Given the description of an element on the screen output the (x, y) to click on. 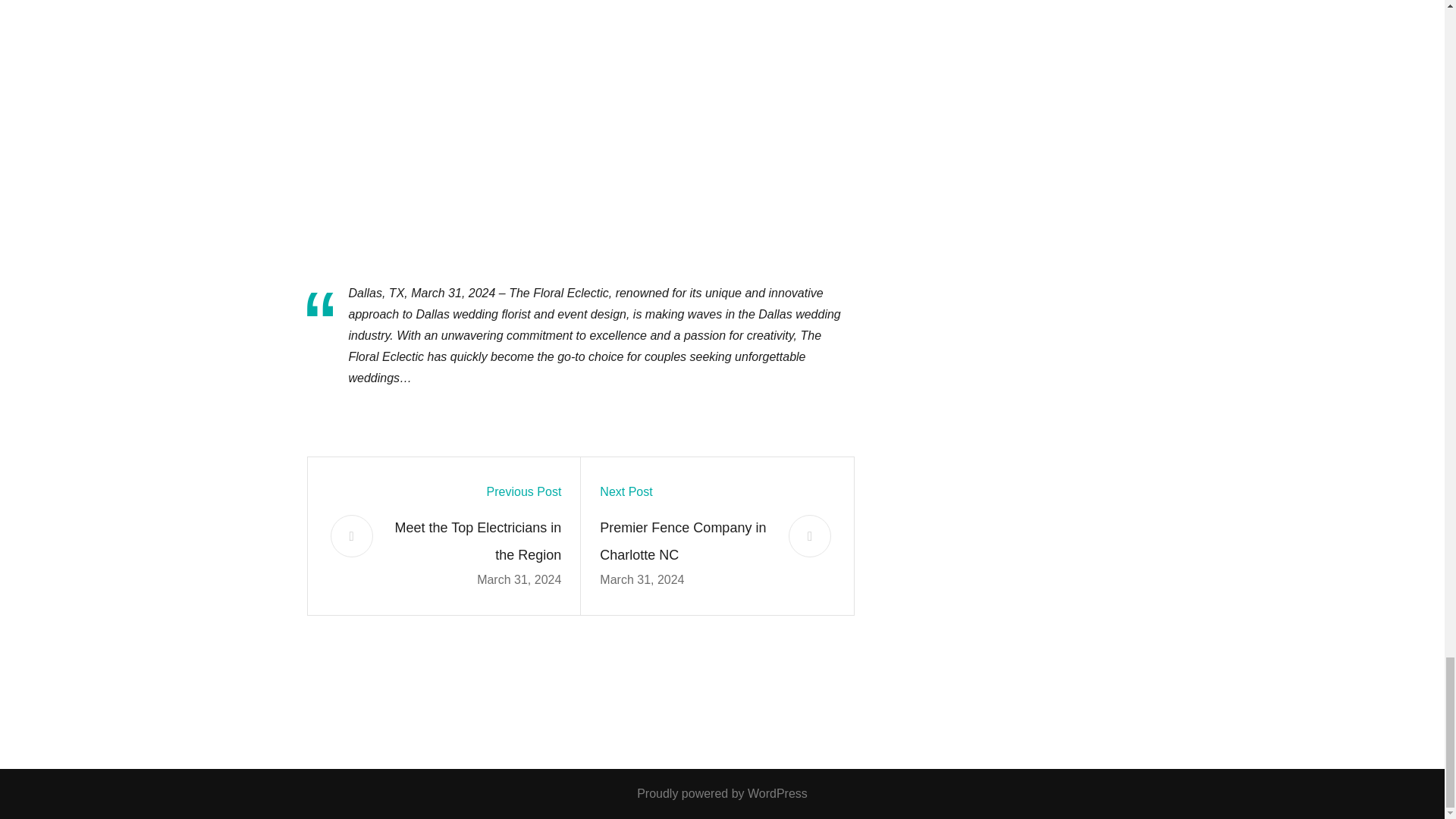
Premier Fence Company in Charlotte NC (684, 541)
March 31, 2024 (518, 579)
Meet the Top Electricians in the Region (475, 541)
March 31, 2024 (641, 579)
